Given the description of an element on the screen output the (x, y) to click on. 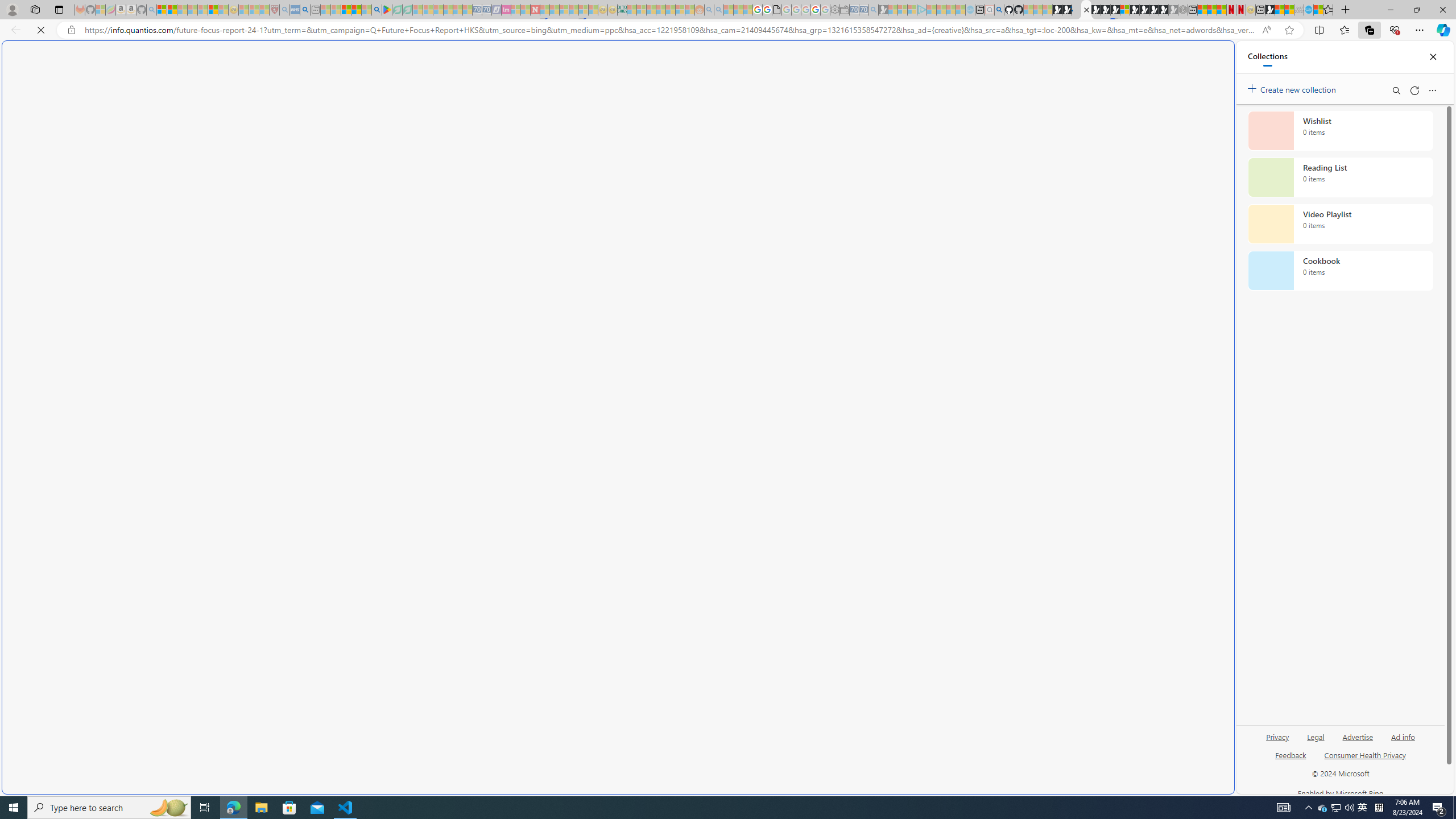
Earth has six continents not seven, radical new study claims (1288, 9)
utah sues federal government - Search (922, 389)
utah sues federal government - Search (304, 9)
